Given the description of an element on the screen output the (x, y) to click on. 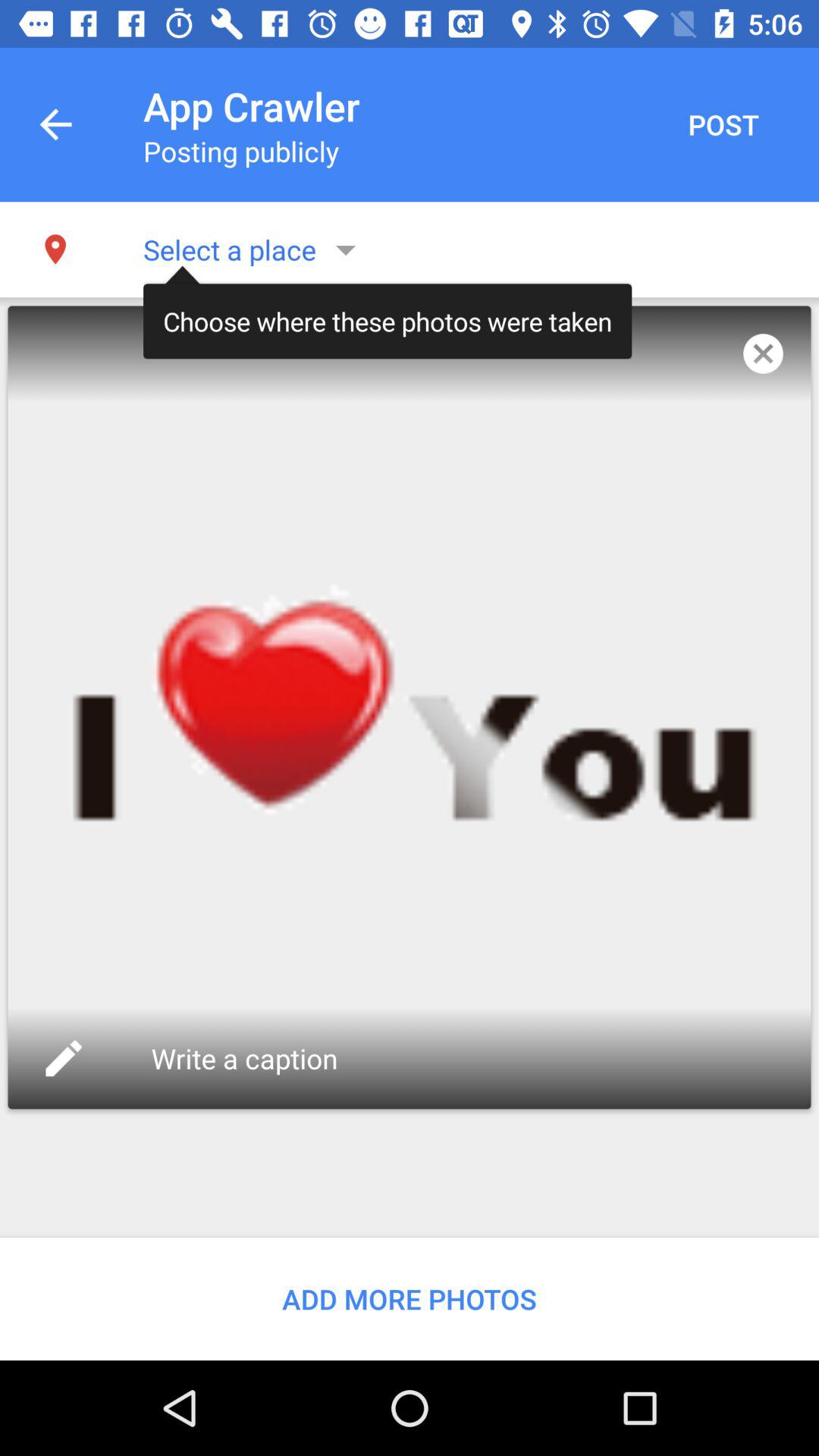
launch the item to the right of the app crawler app (723, 124)
